Given the description of an element on the screen output the (x, y) to click on. 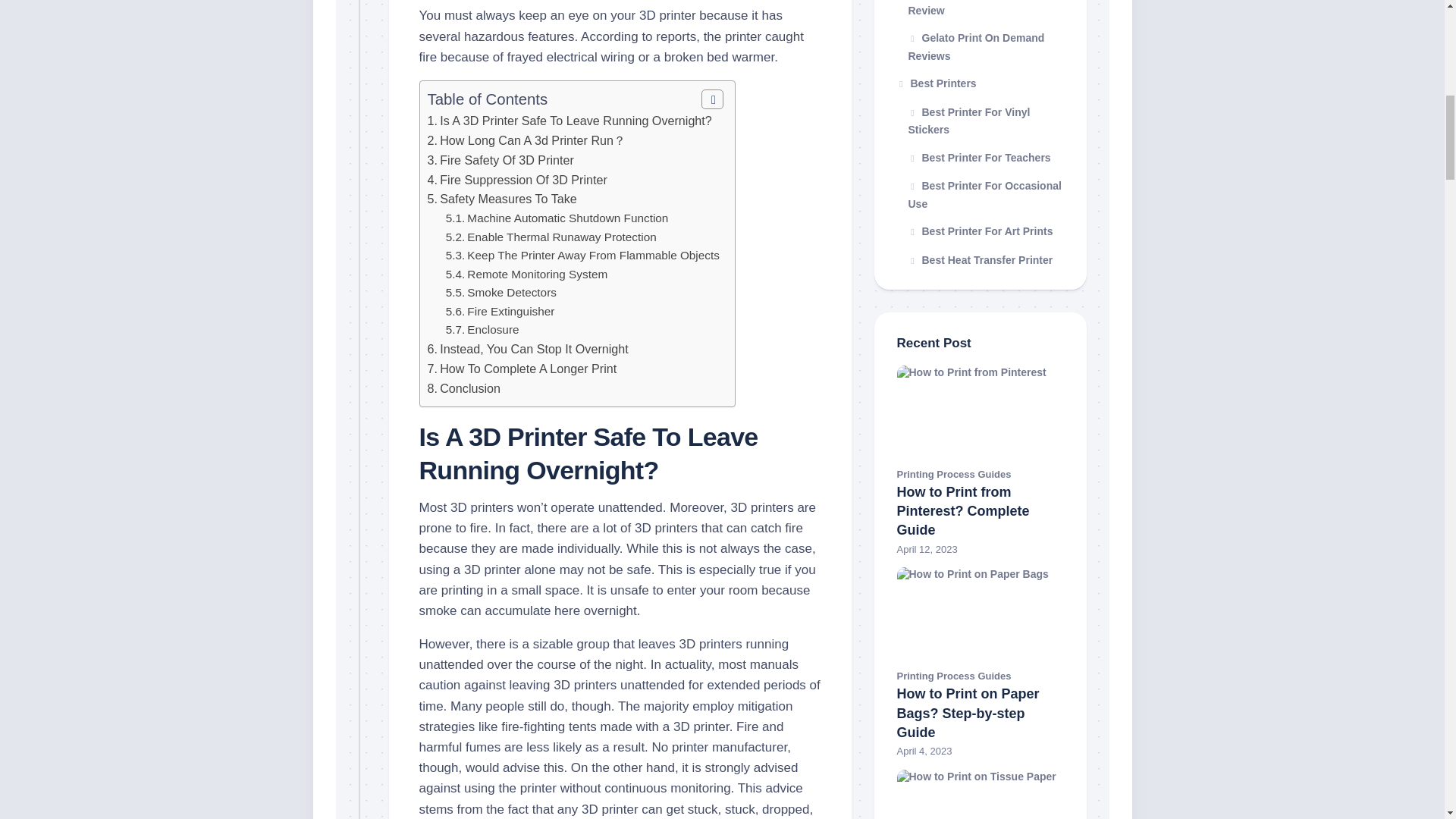
Fire Extinguisher (510, 310)
Machine Automatic Shutdown Function (567, 217)
Enable Thermal Runaway Protection (561, 236)
Enclosure (492, 328)
Remote Monitoring System (537, 273)
Smoke Detectors (511, 291)
Conclusion (469, 387)
